Given the description of an element on the screen output the (x, y) to click on. 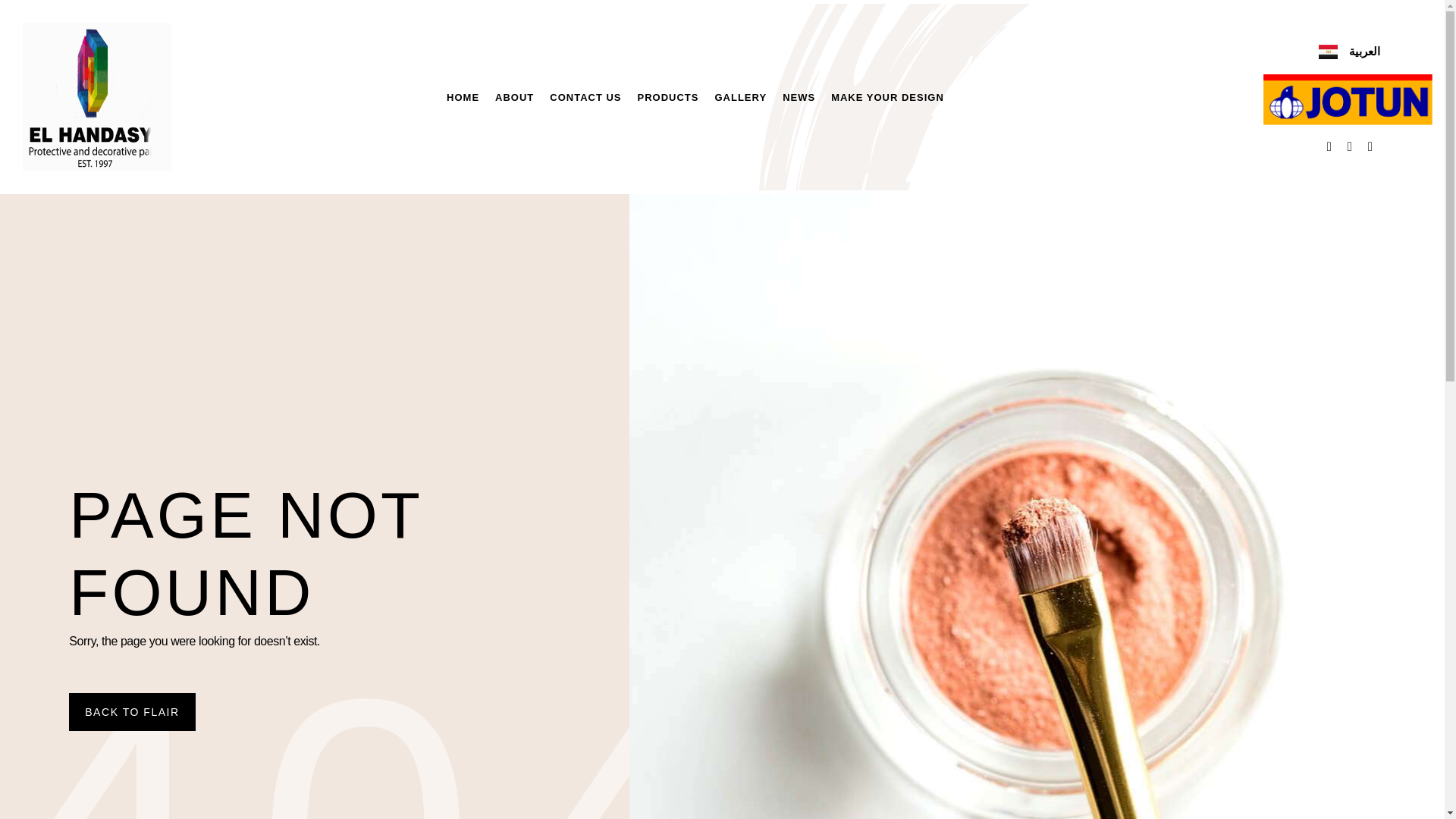
PRODUCTS (667, 97)
NEWS (799, 97)
GALLERY (740, 97)
ABOUT (513, 97)
HOME (462, 97)
CONTACT US (585, 97)
MAKE YOUR DESIGN (887, 97)
